Given the description of an element on the screen output the (x, y) to click on. 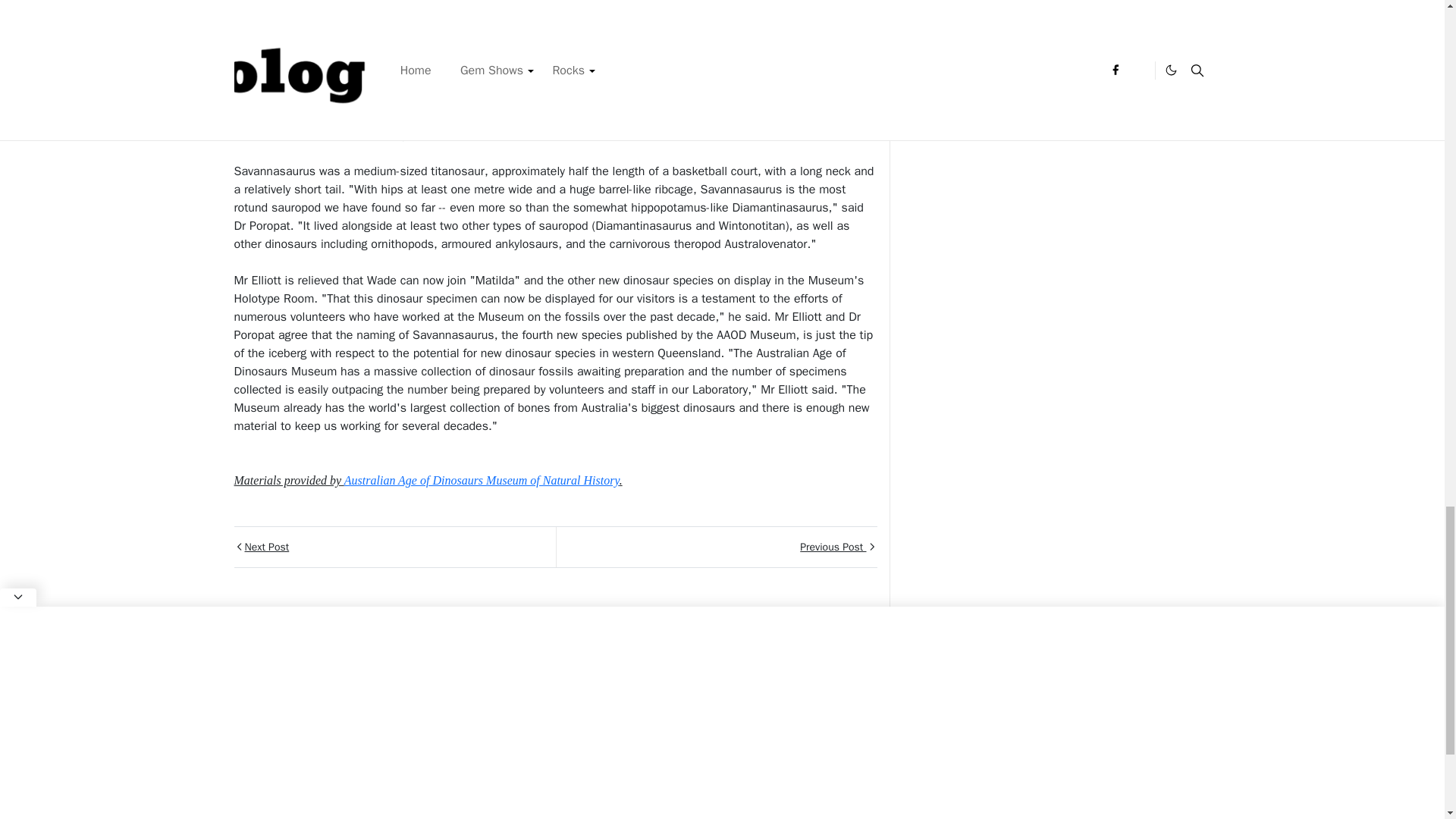
Australian Age of Dinosaurs Museum of Natural History (481, 480)
Next Post (393, 547)
Previous Post (715, 547)
